Given the description of an element on the screen output the (x, y) to click on. 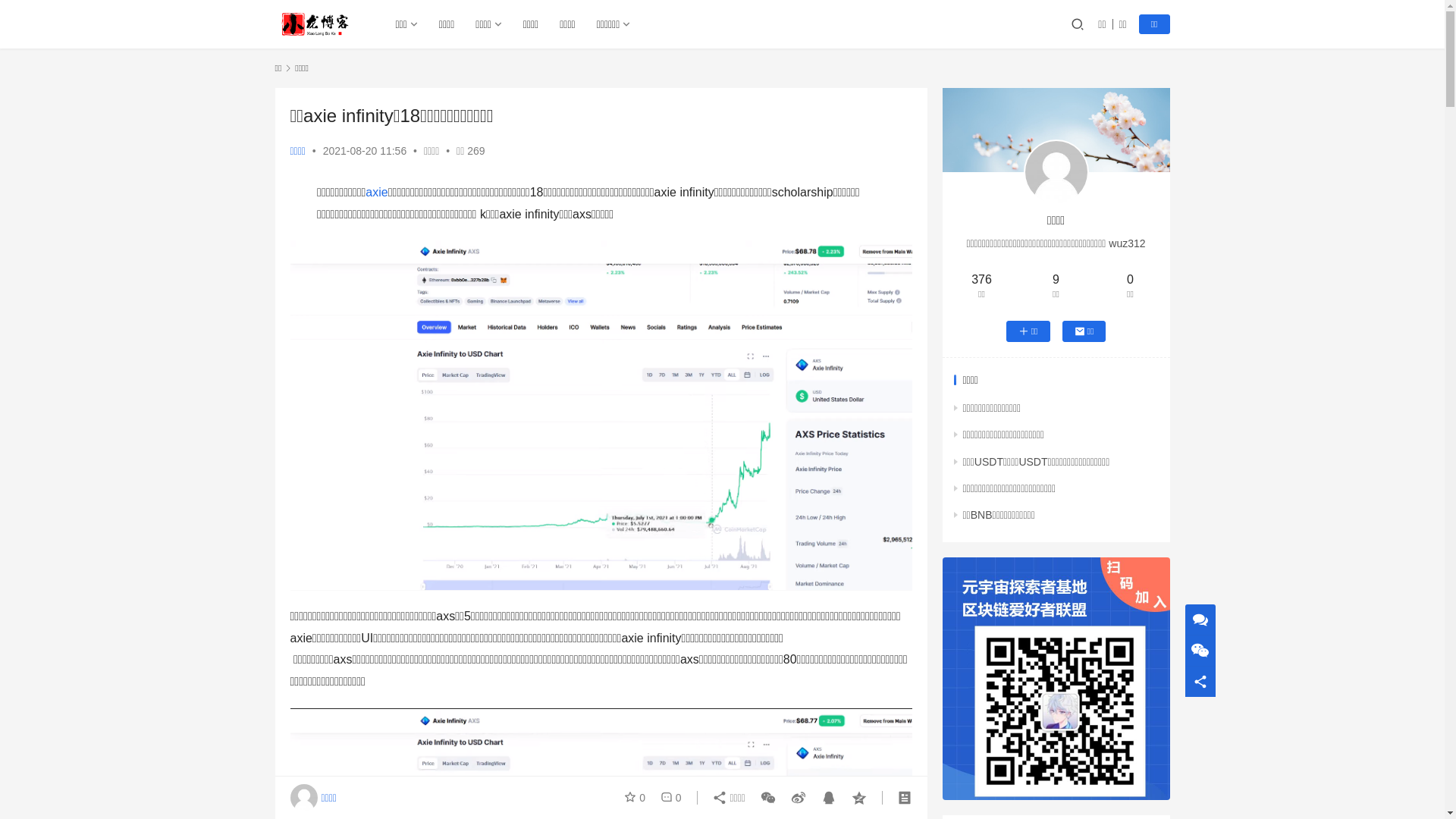
0 Element type: text (637, 797)
axie Element type: text (376, 191)
0 Element type: text (667, 797)
